Given the description of an element on the screen output the (x, y) to click on. 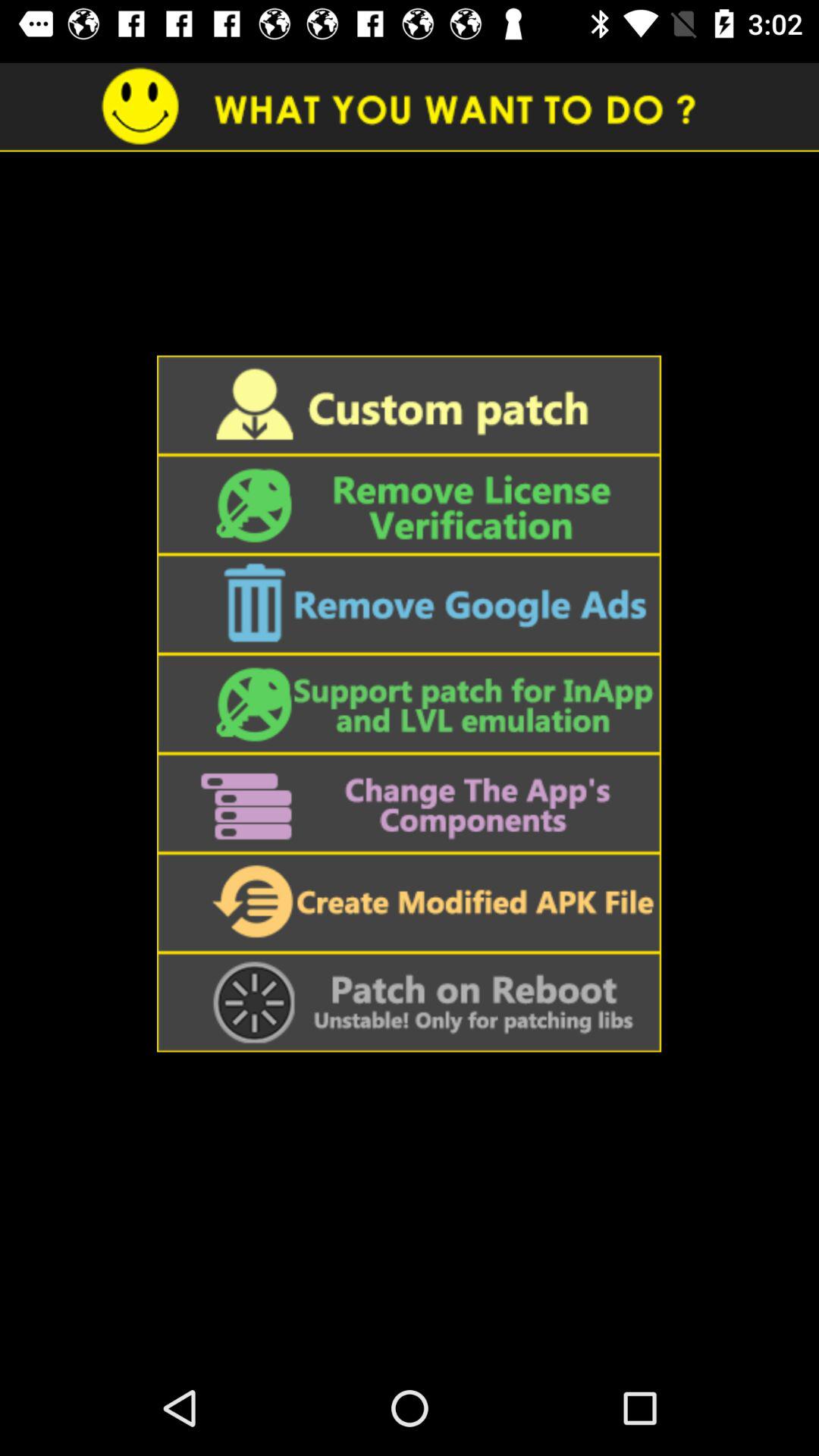
create custom patch (408, 405)
